Given the description of an element on the screen output the (x, y) to click on. 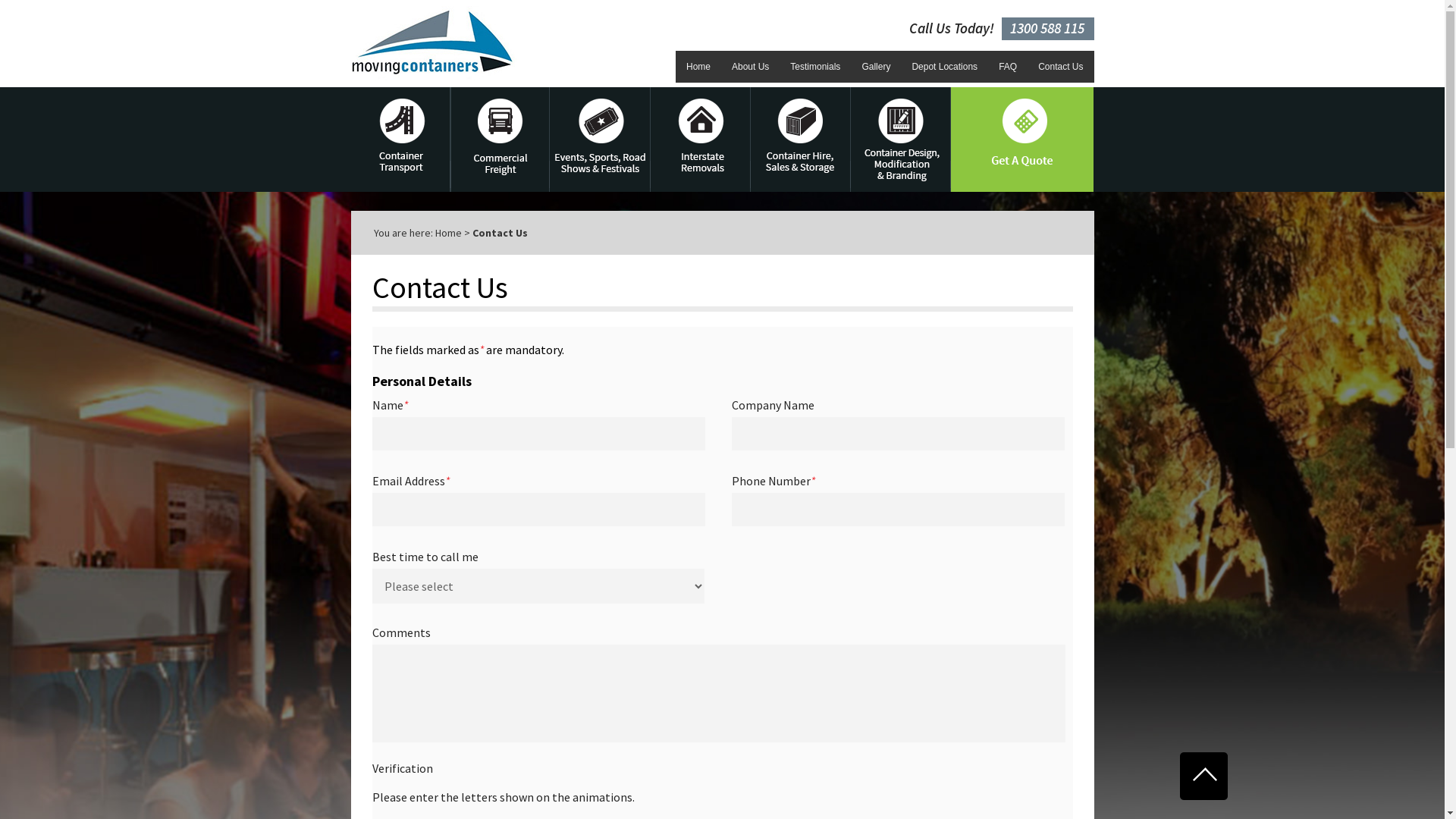
Container Design, Modification & Branding Element type: hover (900, 139)
Home Element type: text (448, 232)
Events, Sports, Road Shows & Festivals Element type: hover (599, 139)
1300 588 115 Element type: text (1047, 28)
Testimonials Element type: text (814, 66)
FAQ Element type: text (1007, 66)
Contact Us Element type: text (1060, 66)
Interstate Removals Element type: hover (700, 139)
Container Transport Element type: hover (400, 139)
Depot Locations Element type: text (944, 66)
Get A Quote Element type: hover (1021, 139)
Home Element type: text (698, 66)
Commercial Freight Element type: hover (499, 139)
Moving Containers Element type: hover (433, 40)
About Us Element type: text (750, 66)
Container Hire Sales & Storage Element type: hover (800, 139)
Gallery Element type: text (875, 66)
  Element type: text (1203, 776)
